Given the description of an element on the screen output the (x, y) to click on. 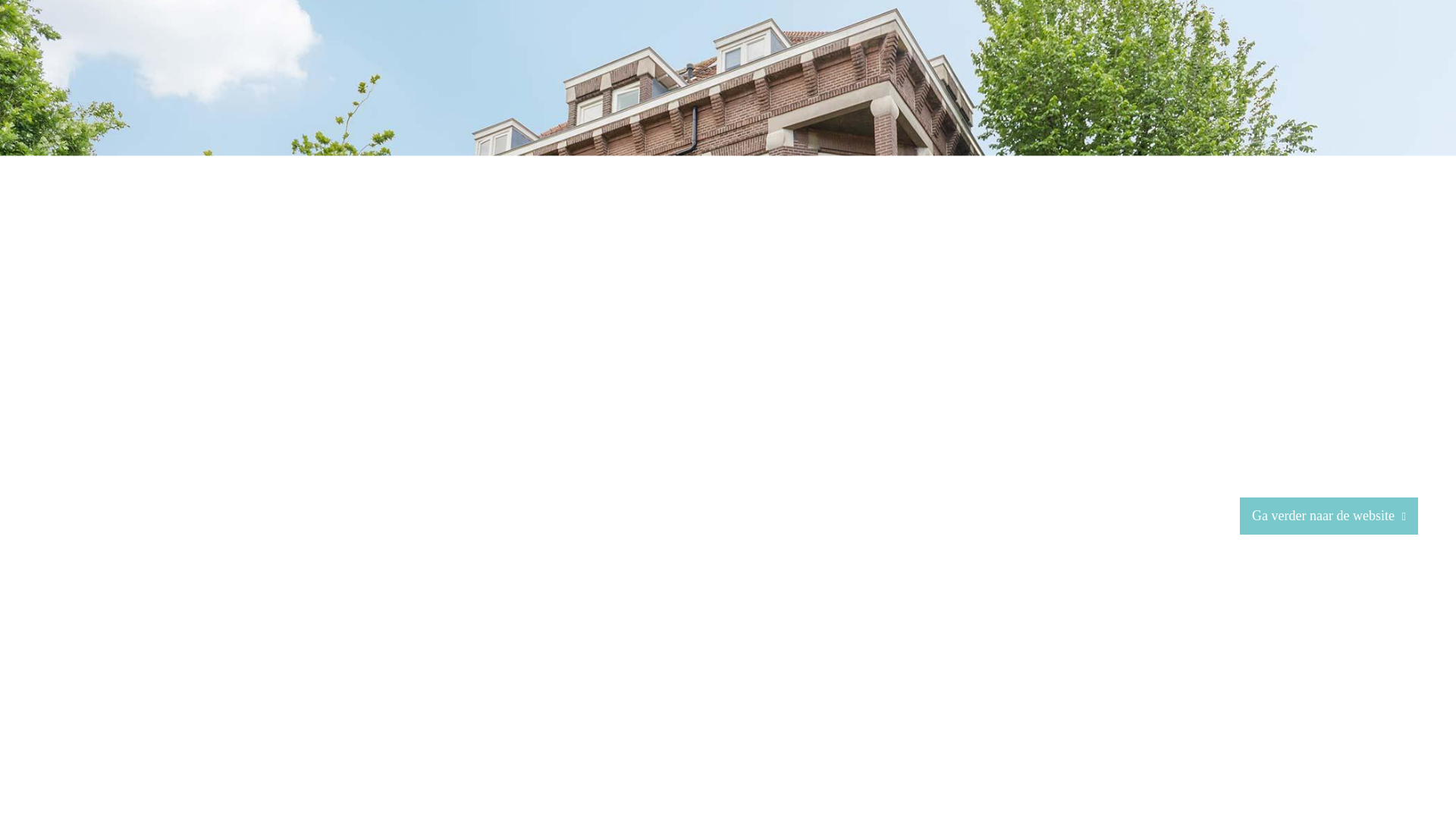
Contact (1331, 52)
Behandelingen (1123, 52)
Onze praktijk (1020, 52)
Onze praktijk (1020, 52)
English (1397, 52)
Ga verder naar de website (1329, 515)
Home (947, 52)
Behandelingen (1123, 52)
030 252 03 59 (512, 694)
Home (947, 52)
English (1397, 52)
Contact (1331, 52)
